Given the description of an element on the screen output the (x, y) to click on. 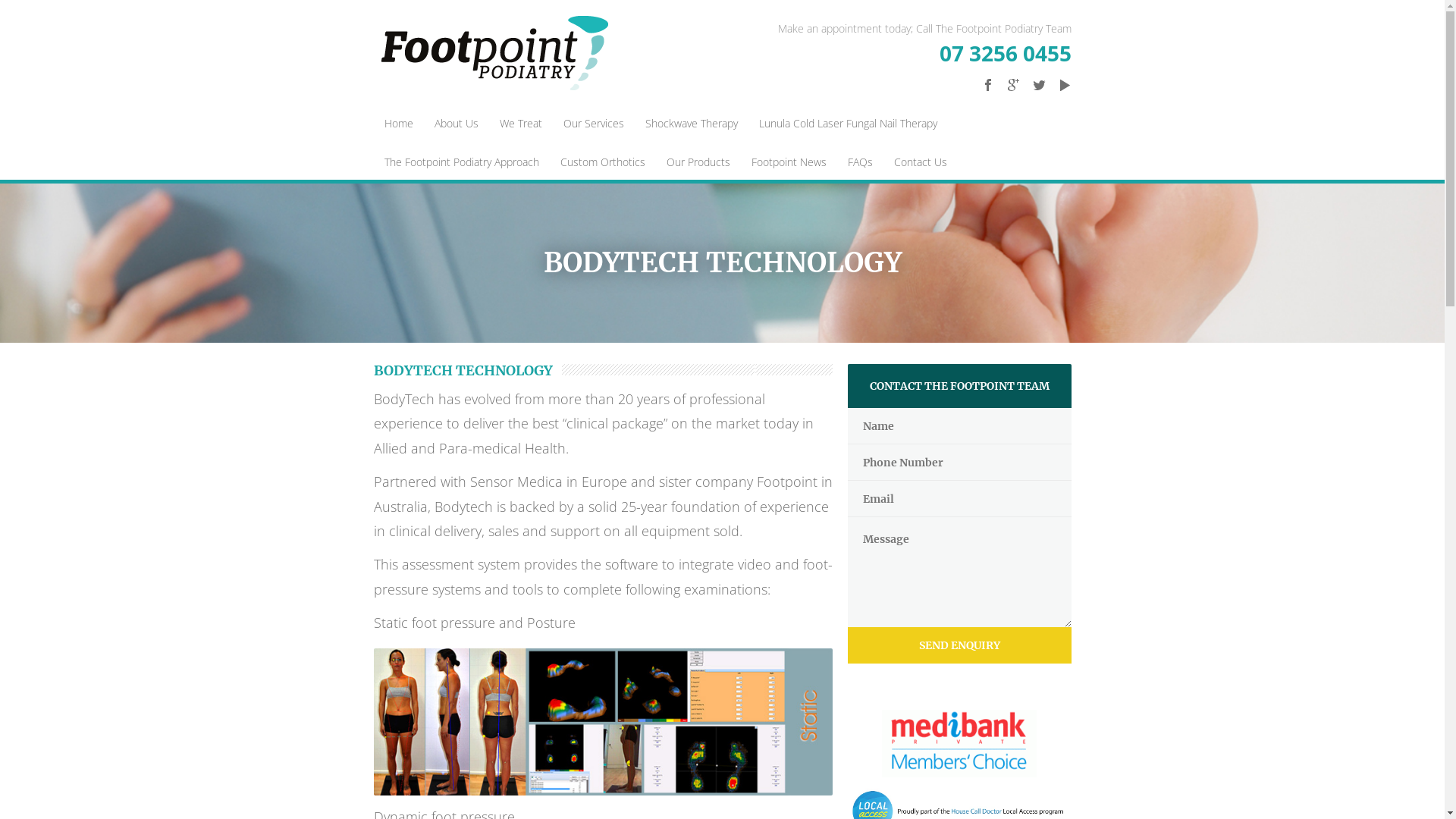
FAQs Element type: text (860, 163)
Home Element type: text (398, 125)
Footpoint News Element type: text (788, 163)
The Footpoint Podiatry Approach Element type: text (461, 163)
Custom Orthotics Element type: text (602, 163)
SEND ENQUIRY Element type: text (958, 645)
Footpoint Podiatry Element type: text (494, 53)
Google Plus Element type: hover (1013, 84)
Youtube Element type: hover (1064, 84)
Our Products Element type: text (697, 163)
Facebook Element type: hover (987, 84)
Shockwave Therapy Element type: text (690, 125)
About Us Element type: text (455, 125)
Lunula Cold Laser Fungal Nail Therapy Element type: text (847, 125)
Twitter Element type: hover (1038, 84)
07 3256 0455 Element type: text (924, 56)
Our Services Element type: text (592, 125)
We Treat Element type: text (520, 125)
Contact Us Element type: text (919, 163)
